Given the description of an element on the screen output the (x, y) to click on. 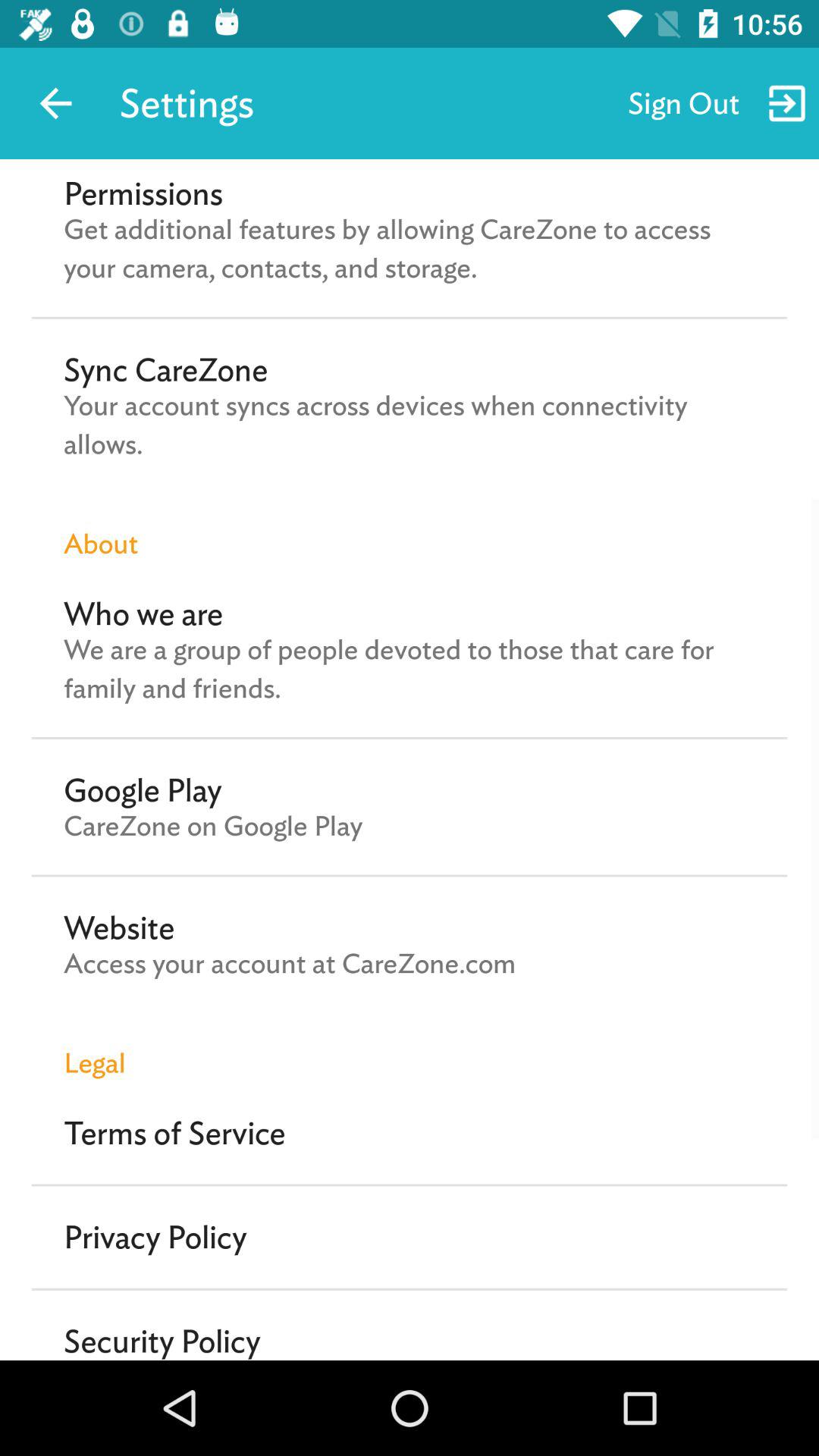
choose about (409, 527)
